Given the description of an element on the screen output the (x, y) to click on. 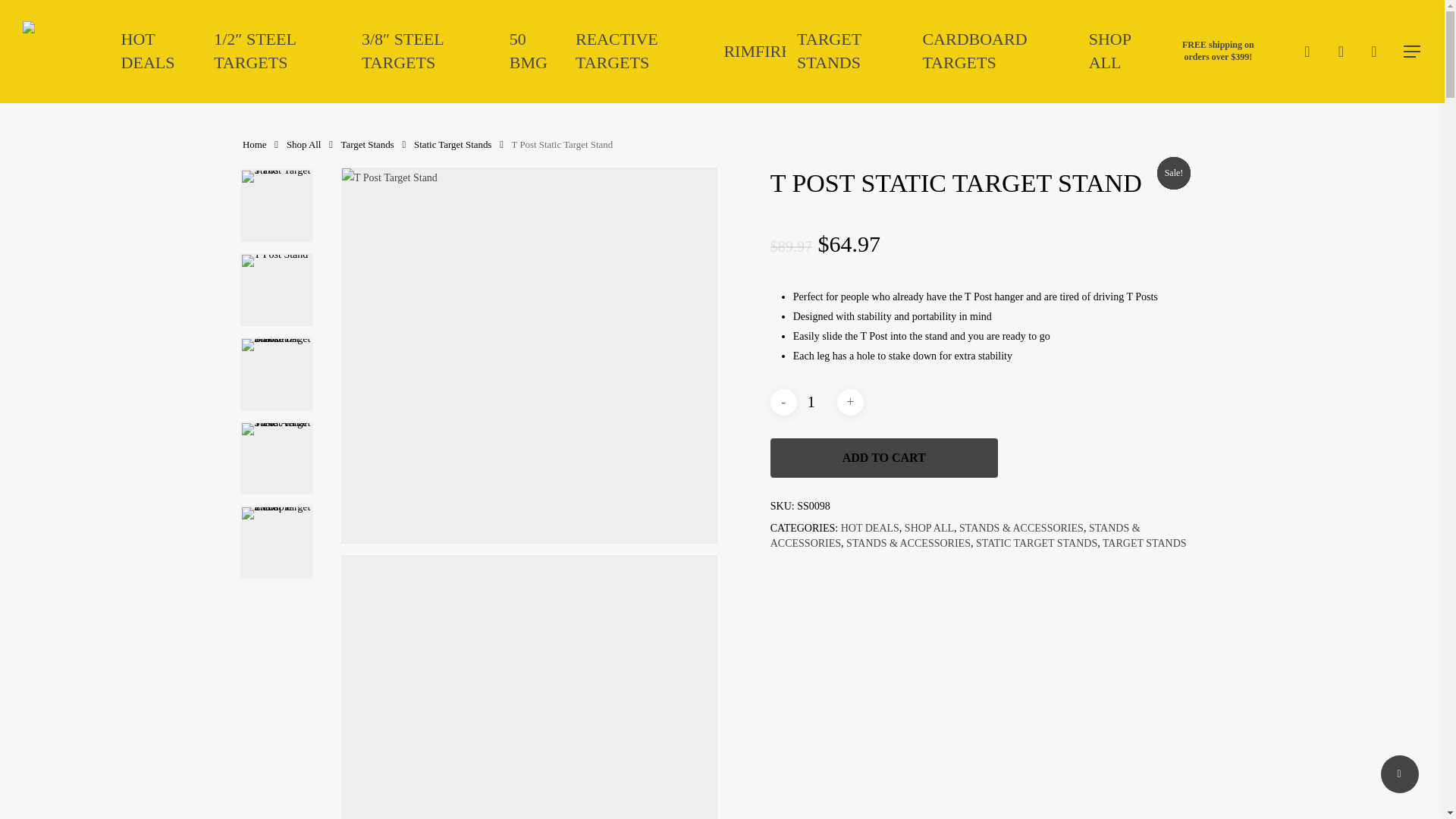
TARGET STANDS (847, 51)
RIMFIRE (756, 51)
Home (254, 144)
search (1307, 51)
- (783, 402)
Target Stands (367, 144)
HOT DEALS (156, 51)
CARDBOARD TARGETS (993, 51)
account (1340, 51)
50 BMG (531, 51)
REACTIVE TARGETS (637, 51)
1 (816, 402)
Shop All (303, 144)
SHOP ALL (1119, 51)
